Given the description of an element on the screen output the (x, y) to click on. 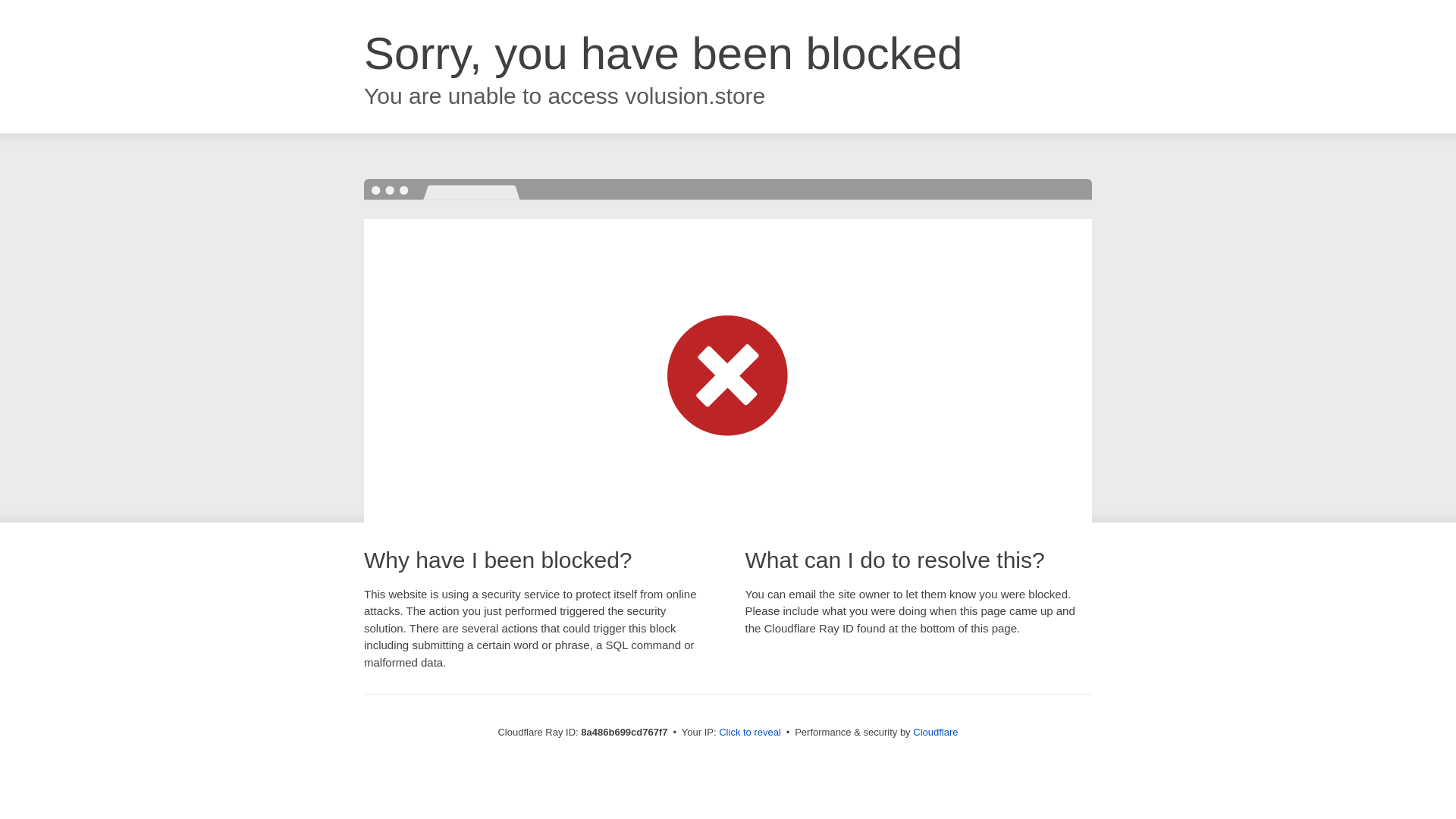
Click to reveal (749, 732)
Cloudflare (935, 731)
